Given the description of an element on the screen output the (x, y) to click on. 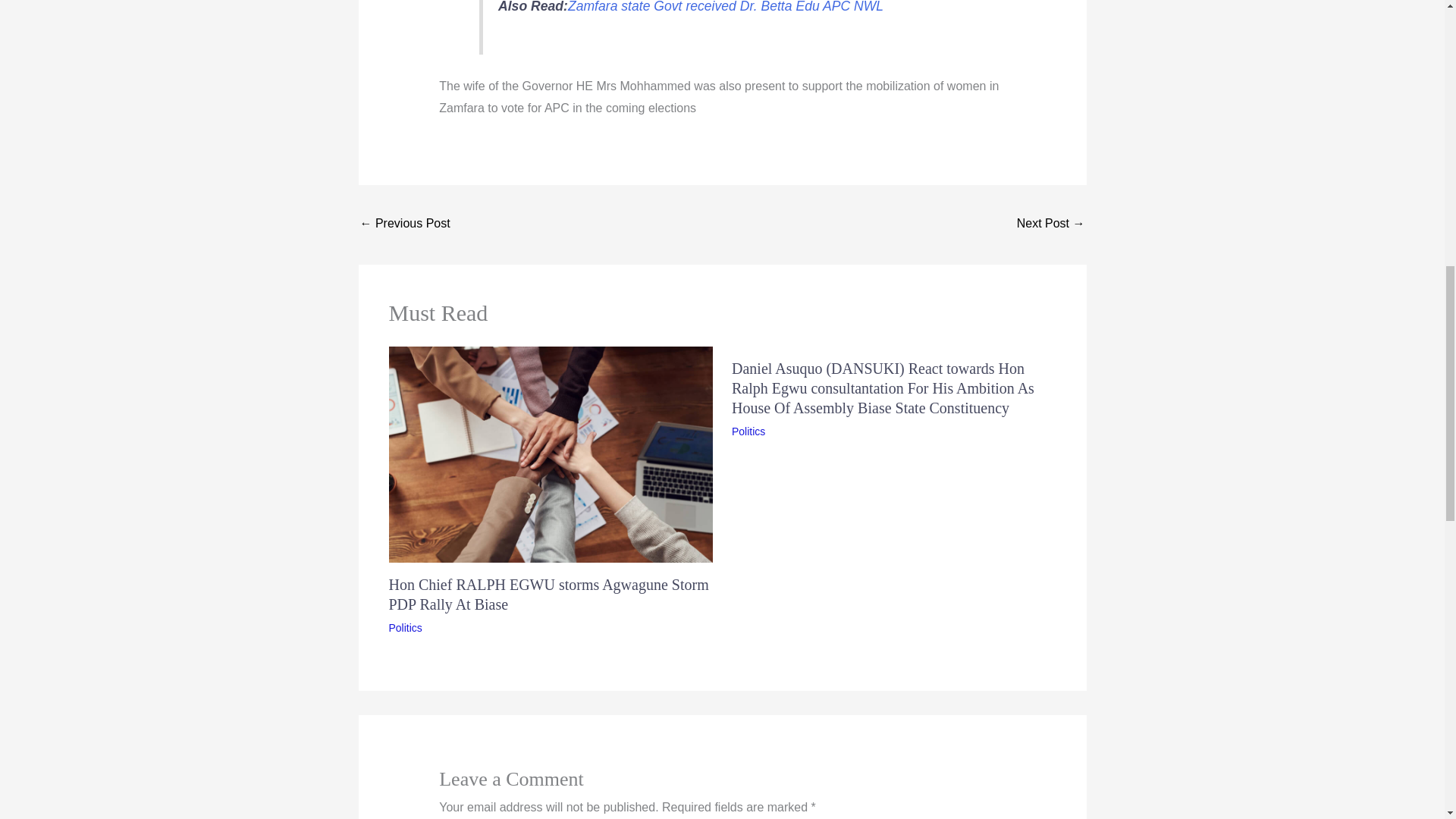
Okoi Obono Receive Eteng Jonah Williams toward 2023. (404, 224)
Nko And Oyadama:Eteng Jonah Williams Speaker React (1050, 224)
Politics (748, 431)
Zamfara state Govt received Dr. Betta Edu APC NWL (725, 6)
Politics (405, 627)
